Given the description of an element on the screen output the (x, y) to click on. 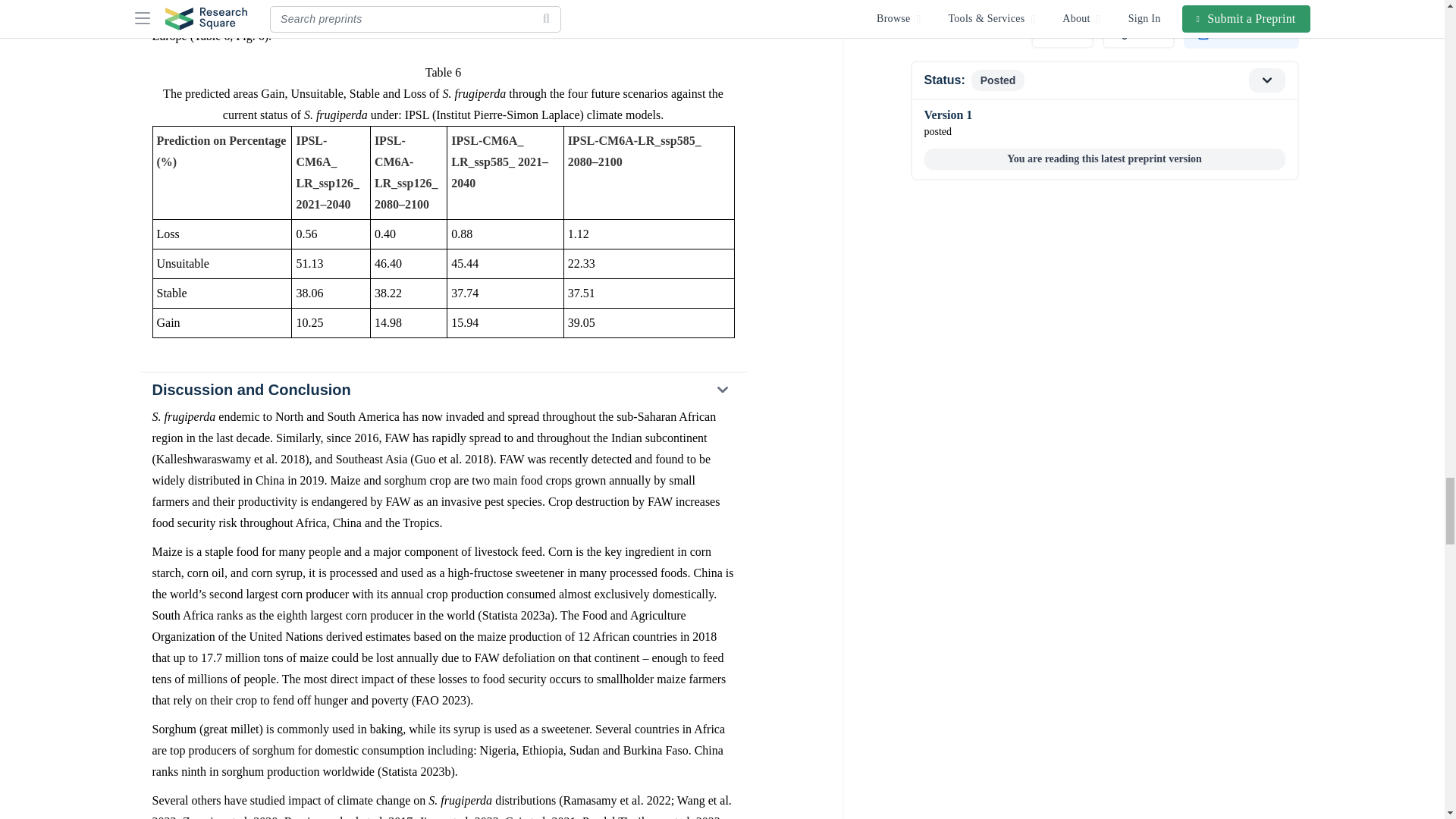
Discussion and Conclusion (442, 389)
